Given the description of an element on the screen output the (x, y) to click on. 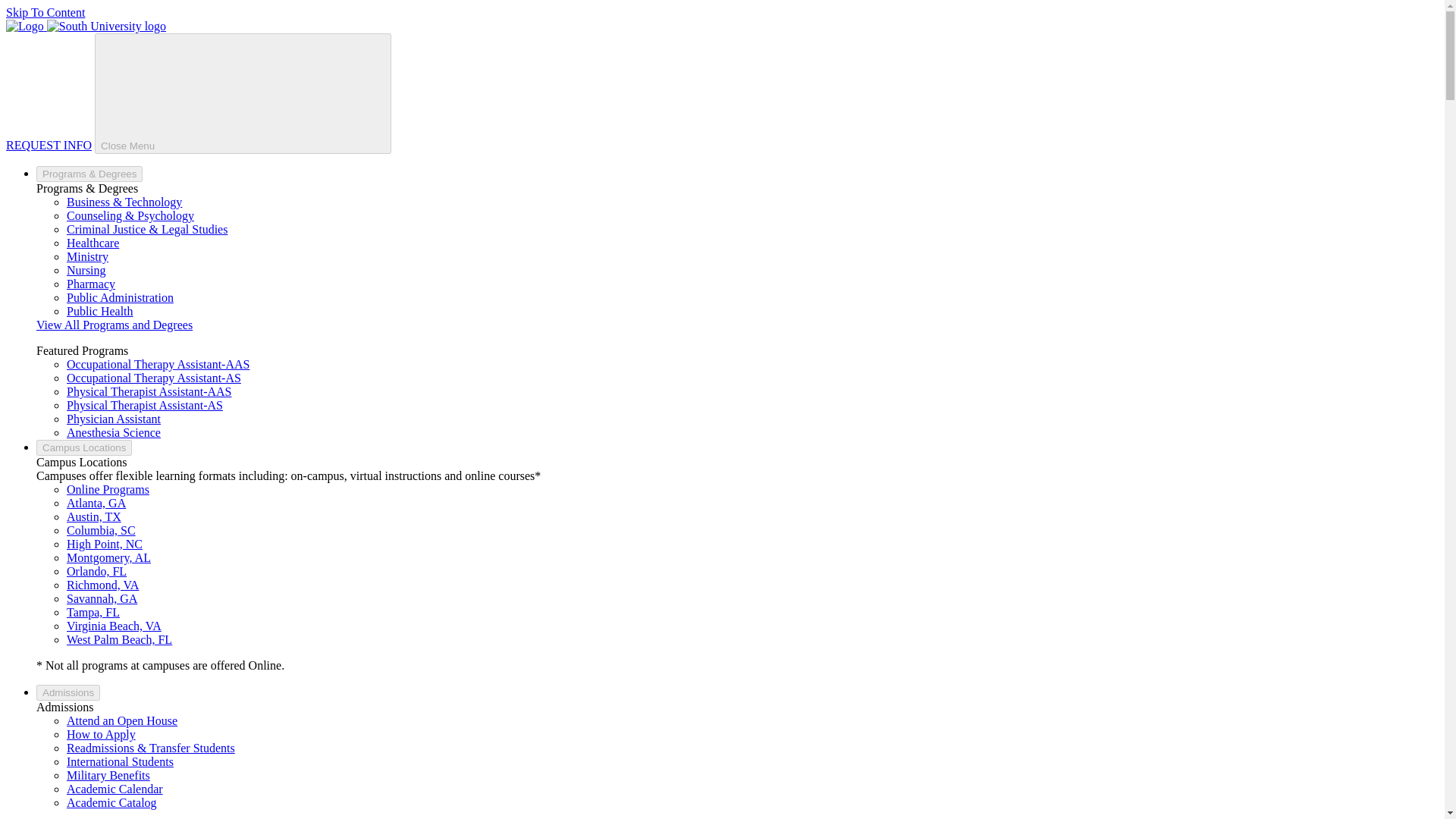
Public Health (99, 310)
REQUEST INFO (48, 144)
View All Programs and Degrees (114, 324)
Home (85, 25)
Virginia Beach, VA (113, 625)
High Point, NC (104, 543)
Richmond, VA (102, 584)
Austin, TX (93, 516)
Savannah, GA (101, 598)
Nursing (86, 269)
Ministry (86, 256)
Public Administration (119, 297)
Online Programs (107, 489)
Campus Locations (84, 447)
Healthcare (92, 242)
